Given the description of an element on the screen output the (x, y) to click on. 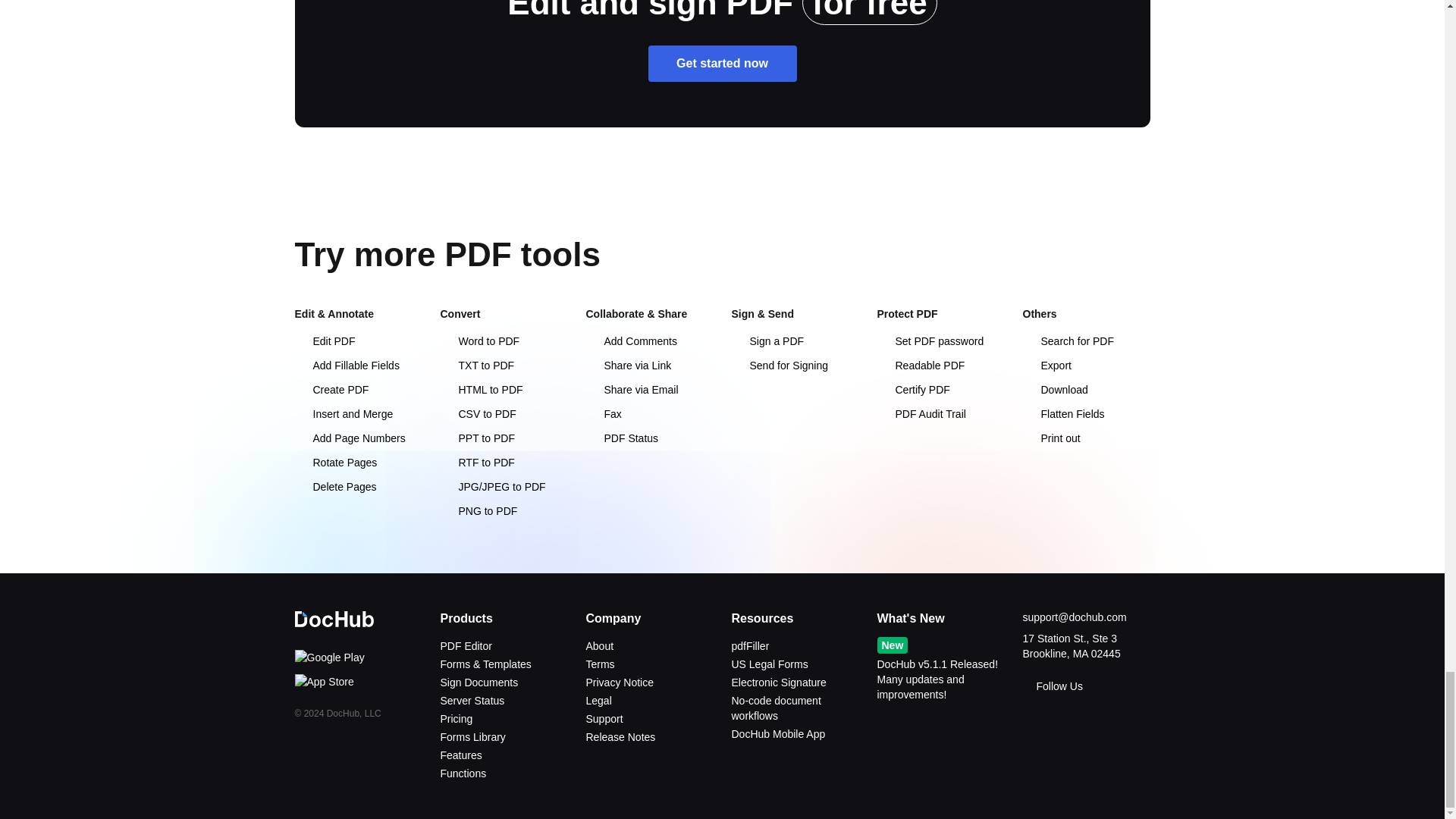
Sign a PDF (766, 340)
Rotate Pages (335, 462)
PPT to PDF (476, 438)
HTML to PDF (480, 389)
PDF Audit Trail (920, 413)
Readable PDF (919, 365)
Export (1046, 365)
Create PDF (331, 389)
CSV to PDF (477, 413)
Share via Link (628, 365)
